Given the description of an element on the screen output the (x, y) to click on. 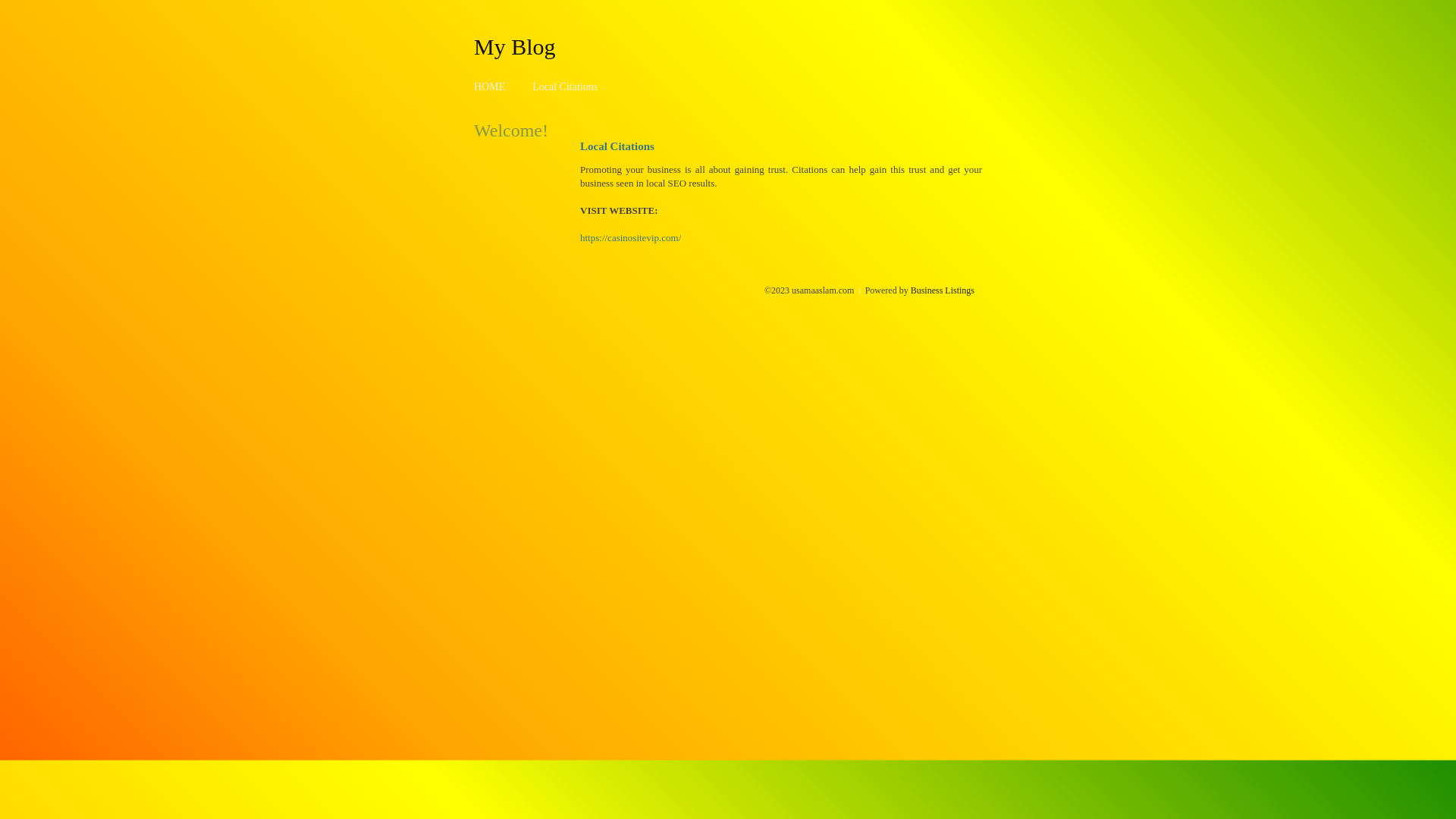
https://casinositevip.com/ Element type: text (630, 237)
Local Citations Element type: text (564, 86)
My Blog Element type: text (514, 46)
HOME Element type: text (489, 86)
Business Listings Element type: text (942, 290)
